Given the description of an element on the screen output the (x, y) to click on. 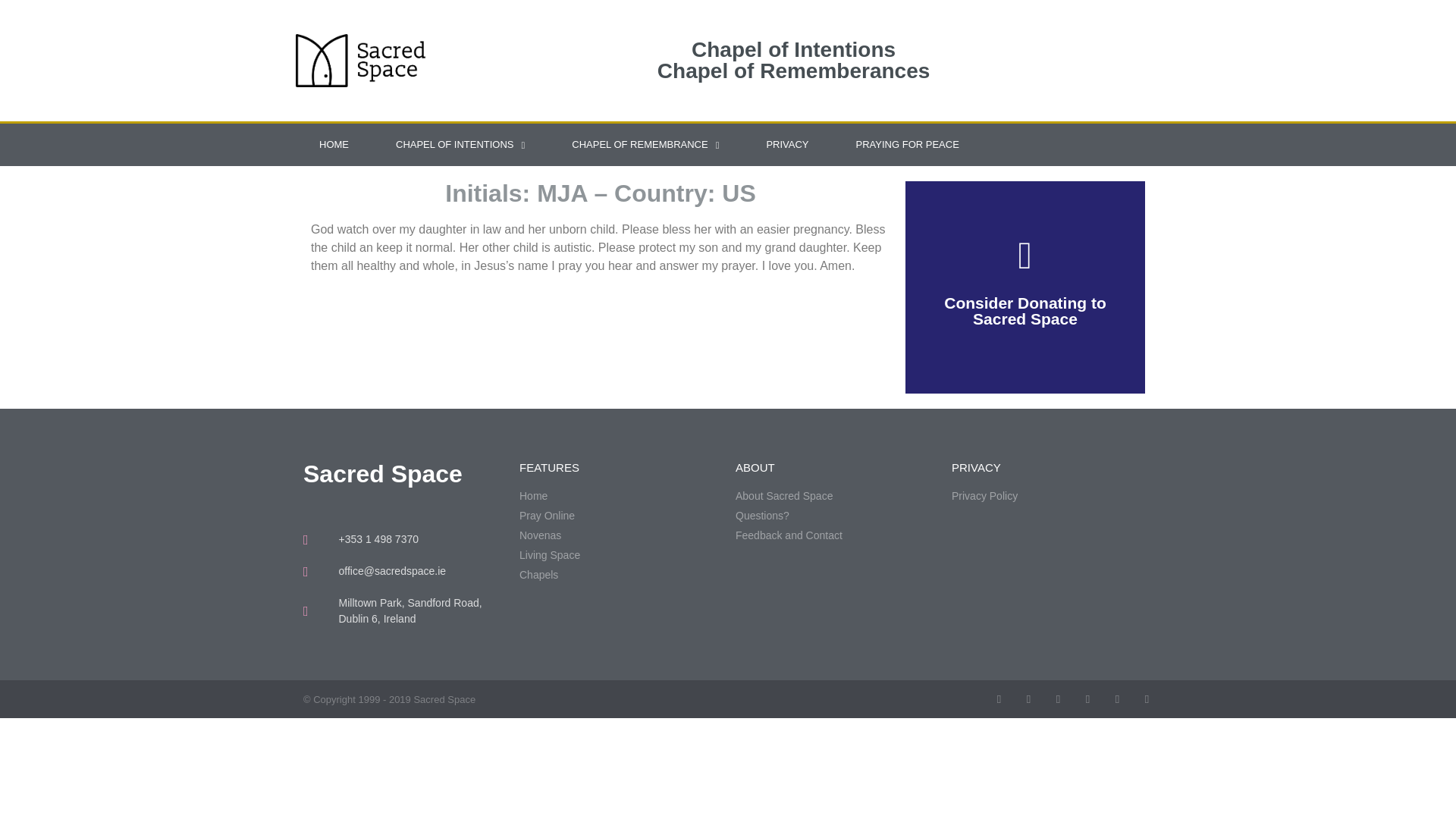
Living Space (619, 555)
Click Here (1024, 247)
HOME (333, 144)
Questions? (835, 515)
Novenas (619, 535)
About Sacred Space (835, 496)
Privacy Policy (1052, 496)
Feedback and Contact (835, 535)
CHAPEL OF REMEMBRANCE (645, 144)
PRIVACY (786, 144)
Home (619, 496)
Pray Online (619, 515)
CHAPEL OF INTENTIONS (460, 144)
PRAYING FOR PEACE (907, 144)
Chapels (619, 575)
